Given the description of an element on the screen output the (x, y) to click on. 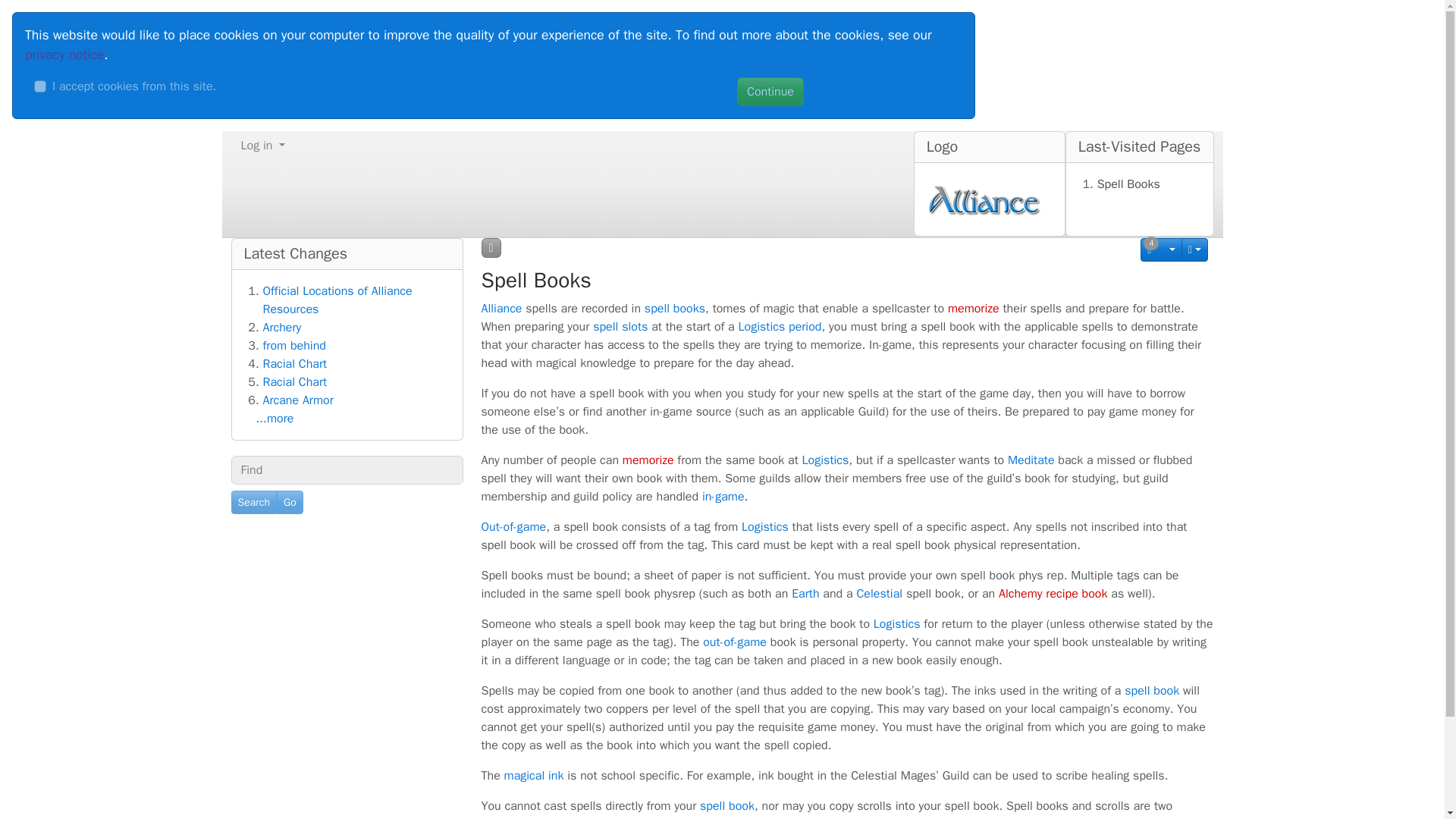
Spell Slots (619, 326)
spell book (727, 806)
Earth (805, 593)
Spell Books (1128, 183)
Earth (805, 593)
spell book (1151, 690)
magical ink (533, 775)
in-game (722, 496)
Logistics period (780, 326)
Glossary (825, 459)
Archery (281, 327)
4 pages are linked to this page (1161, 249)
Out-of-game (513, 526)
Page actions (1194, 249)
Meditate (1030, 459)
